Given the description of an element on the screen output the (x, y) to click on. 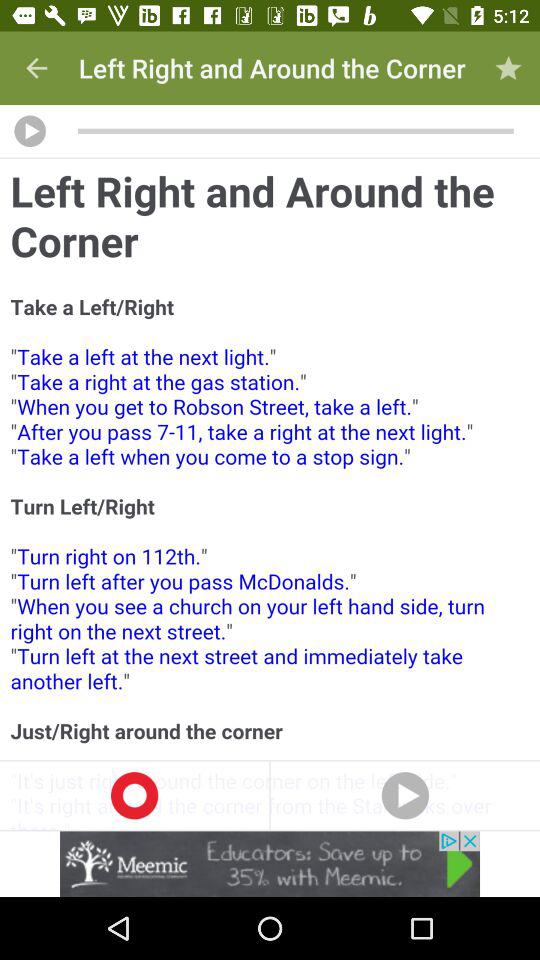
go to play button (30, 131)
